Given the description of an element on the screen output the (x, y) to click on. 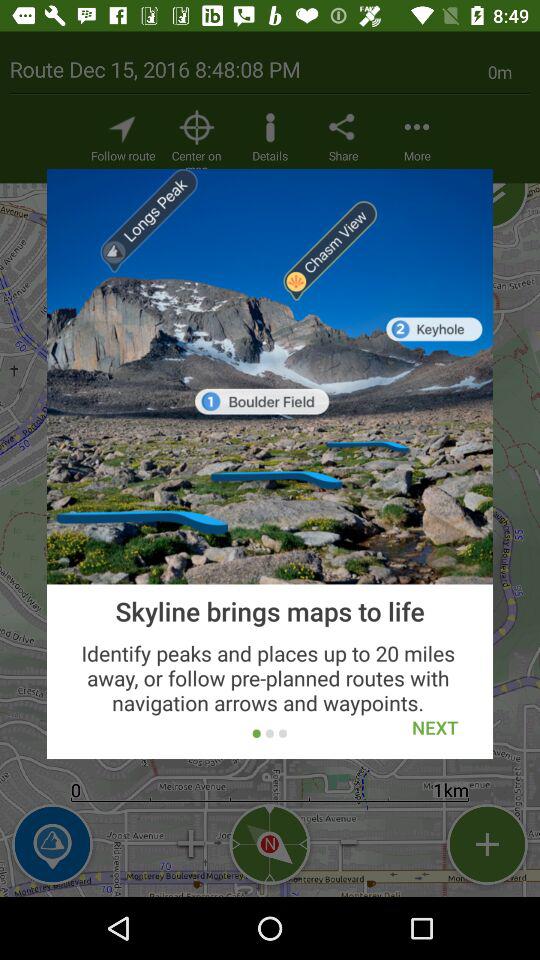
turn on icon below skyline brings maps item (435, 727)
